Given the description of an element on the screen output the (x, y) to click on. 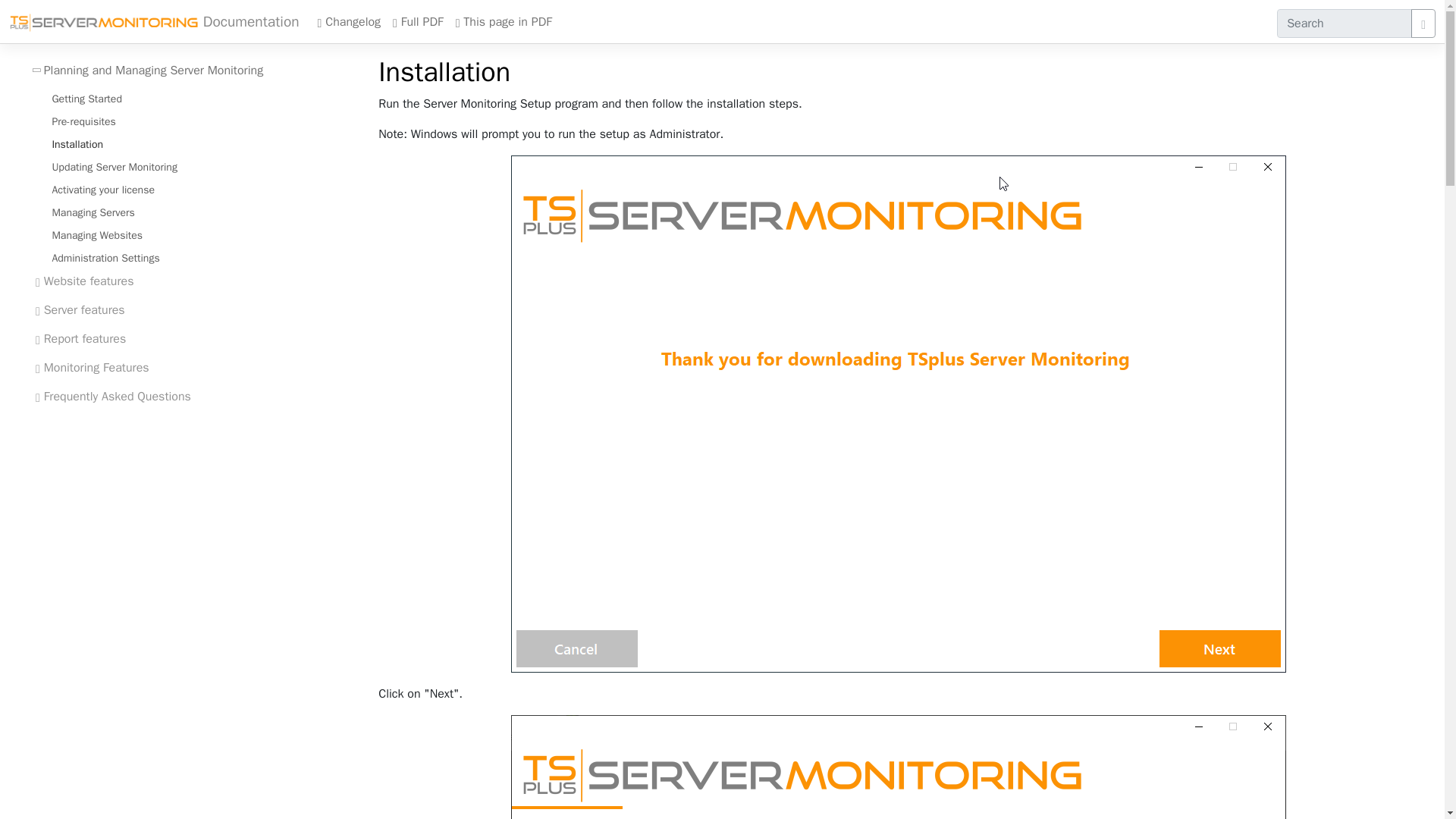
Pre-requisites (82, 121)
Website features (85, 280)
Managing Websites (96, 235)
Report features (80, 338)
Updating Server Monitoring (114, 167)
Activating your license (102, 190)
Managing Servers (92, 212)
Planning and Managing Server Monitoring (149, 70)
Server features (80, 309)
Getting Started (86, 98)
